Given the description of an element on the screen output the (x, y) to click on. 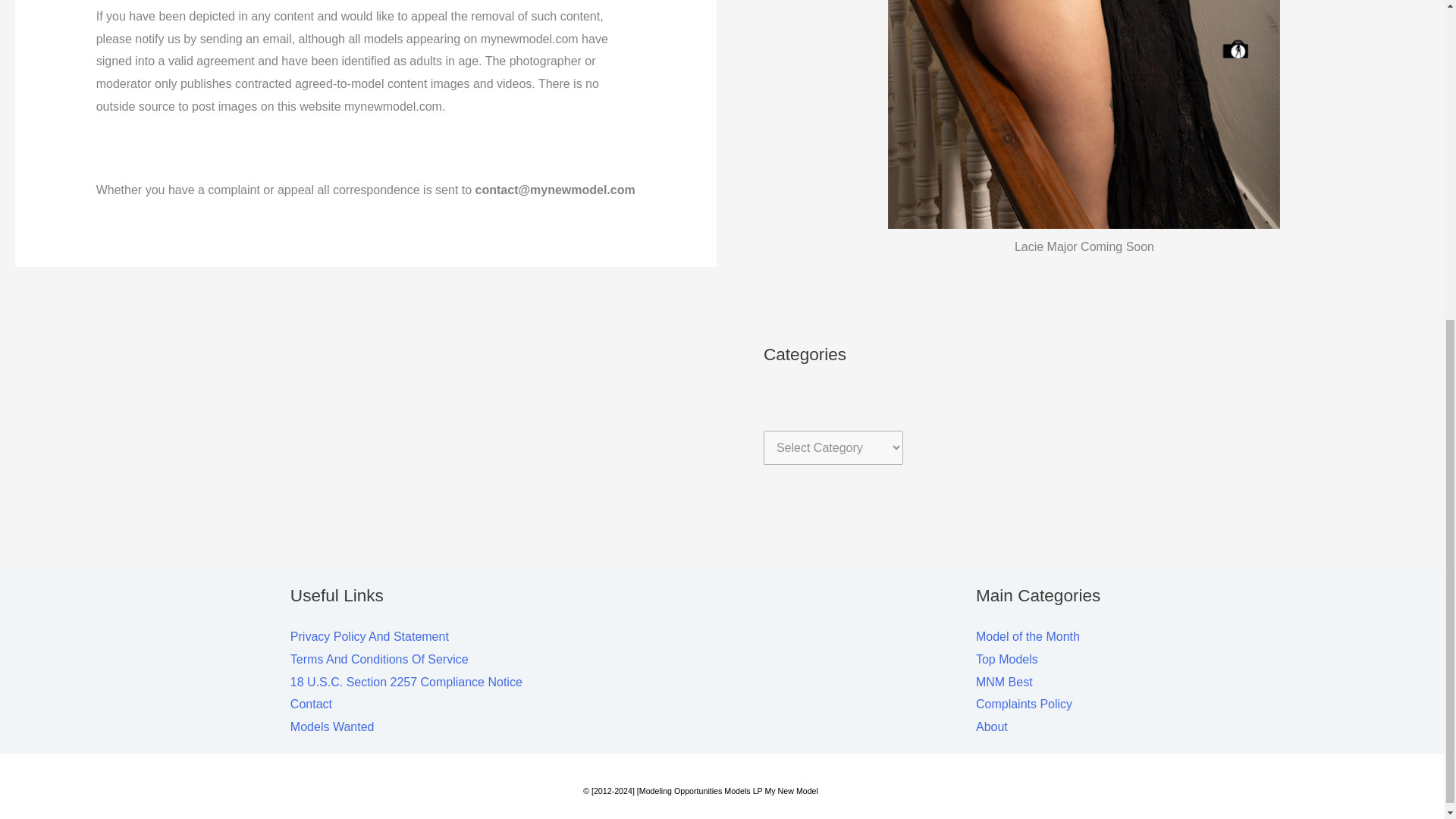
Privacy Policy And Statement (368, 635)
18 U.S.C. Section 2257 Compliance Notice (405, 681)
About (991, 726)
Contact (310, 703)
Terms And Conditions Of Service (378, 658)
Lacie-model-of-the-month (1083, 114)
Model of the Month (1027, 635)
Top Models (1006, 658)
Complaints Policy (1023, 703)
Models Wanted (331, 726)
MNM Best (1003, 681)
